Given the description of an element on the screen output the (x, y) to click on. 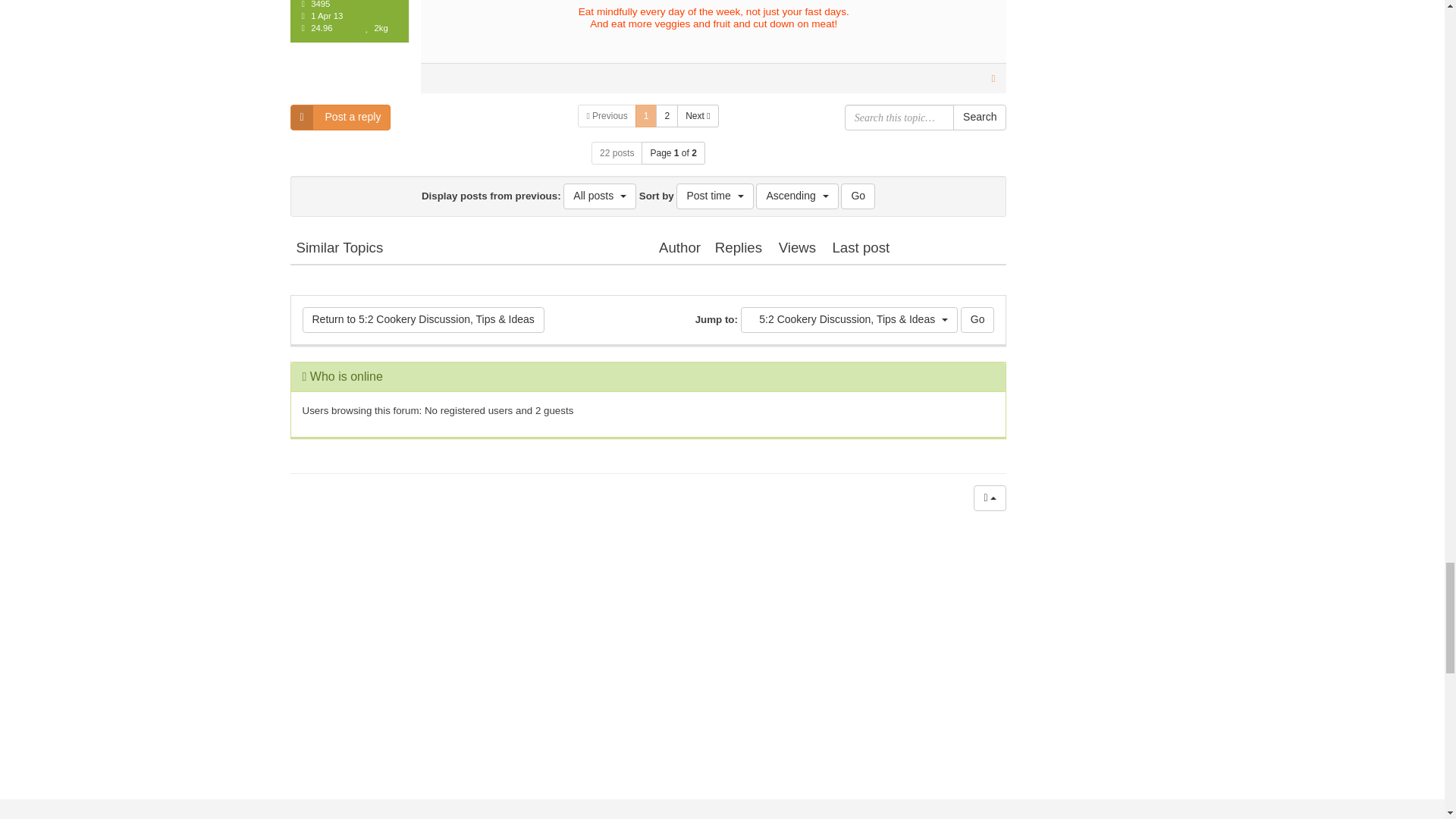
Go (977, 319)
Go (858, 196)
